Given the description of an element on the screen output the (x, y) to click on. 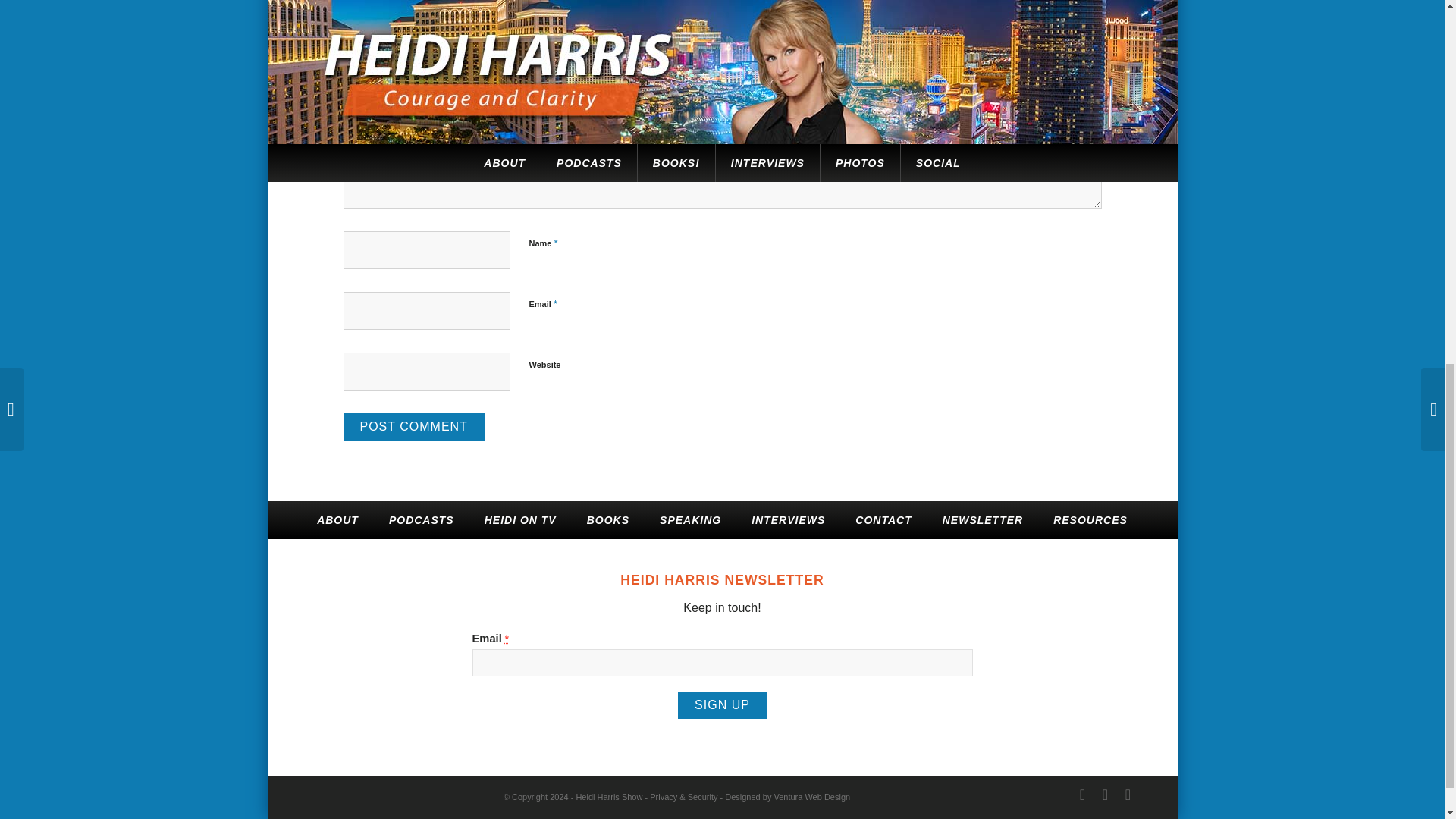
HEIDI ON TV (520, 519)
Post Comment (412, 426)
Sign up (722, 705)
ABOUT (337, 519)
BOOKS (608, 519)
Ventura Web Design (811, 796)
PODCASTS (421, 519)
Sign up (722, 705)
Post Comment (412, 426)
required (506, 638)
Heidi Harris Show (608, 796)
INTERVIEWS (788, 519)
SPEAKING (690, 519)
